Given the description of an element on the screen output the (x, y) to click on. 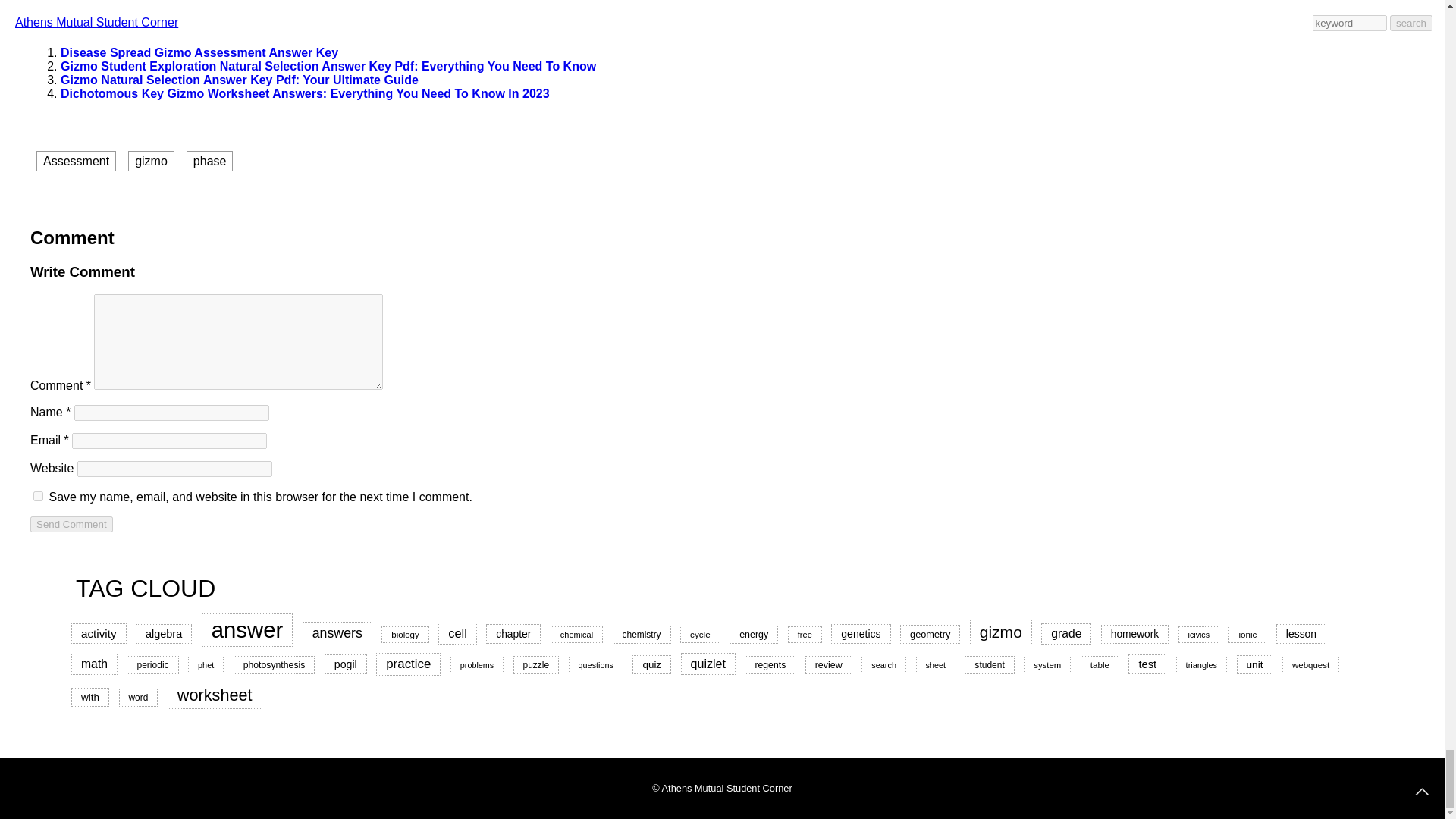
practice (408, 663)
cycle (699, 633)
homework (1134, 633)
Gizmo Natural Selection Answer Key Pdf: Your Ultimate Guide (240, 79)
phase (209, 160)
problems (476, 664)
gizmo (1000, 632)
icivics (1198, 634)
pogil (345, 664)
Send Comment (71, 524)
chapter (513, 633)
Disease Spread Gizmo Assessment Answer Key (199, 51)
biology (404, 634)
photosynthesis (273, 665)
algebra (163, 633)
